Given the description of an element on the screen output the (x, y) to click on. 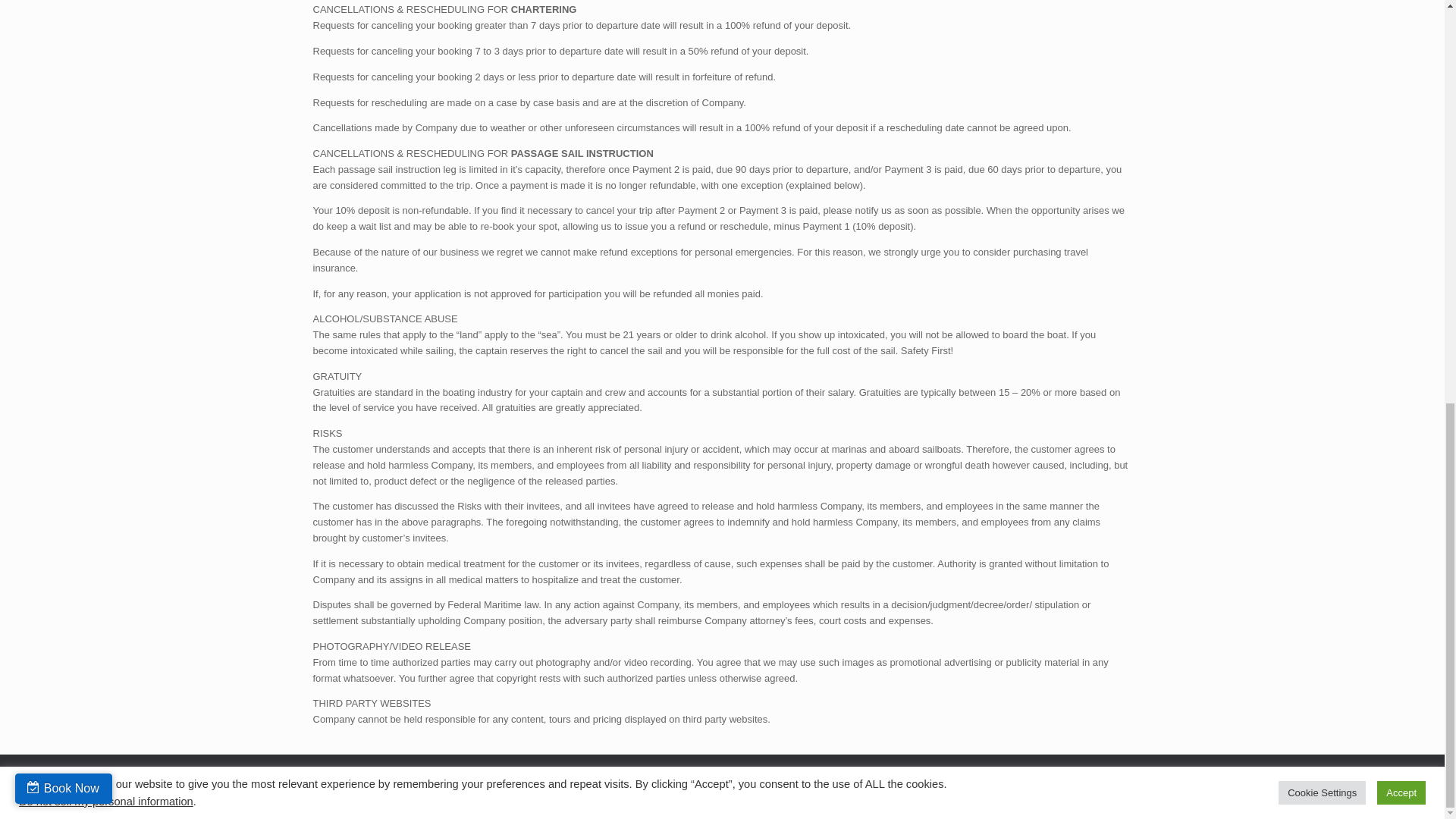
Do not sell my personal information (105, 6)
Cookie Settings (1321, 4)
Accept (1401, 4)
Book Now (63, 4)
FareHarbor (1342, 87)
